Given the description of an element on the screen output the (x, y) to click on. 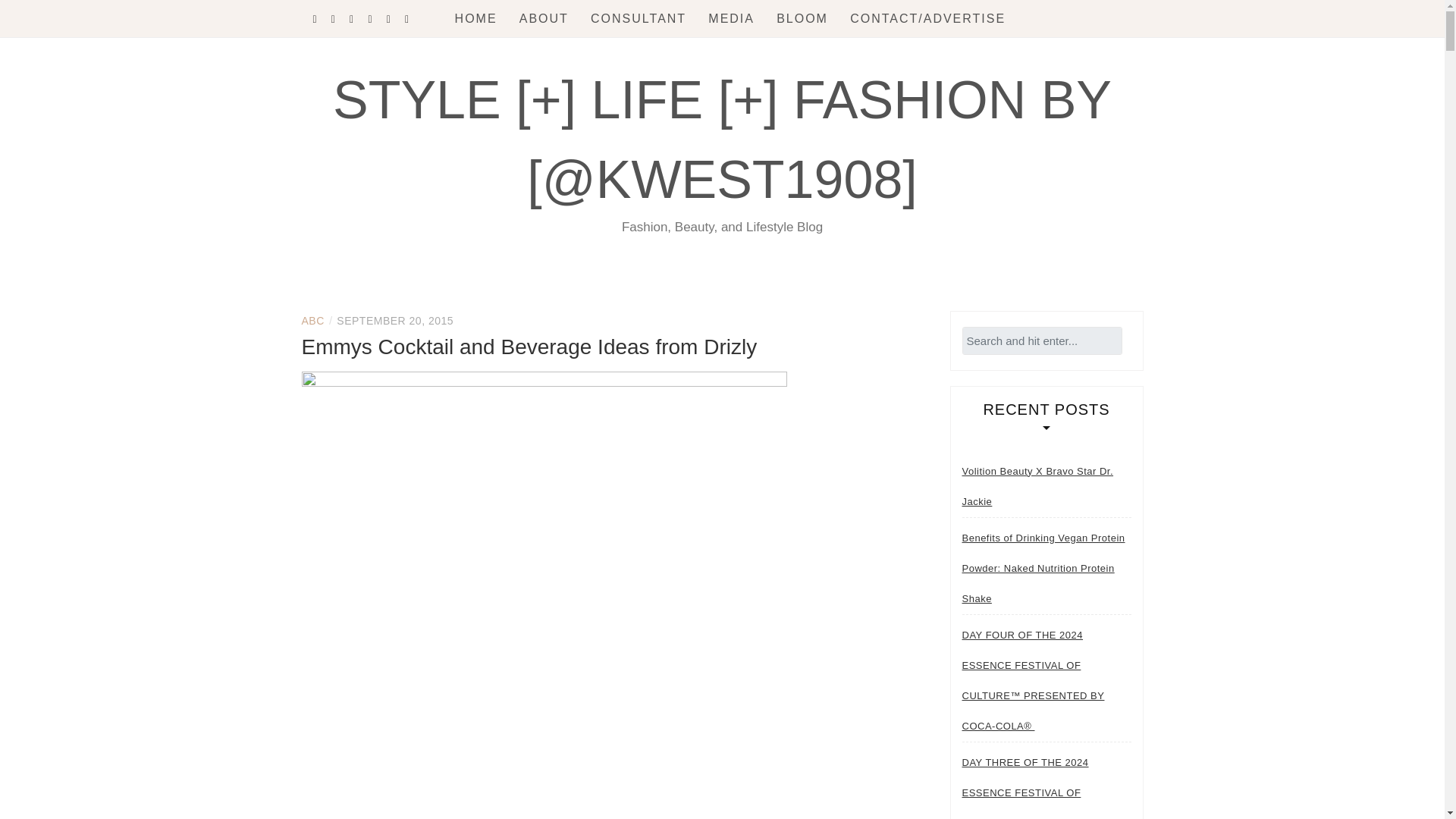
Kimberly-West-Influencer (544, 18)
Volition Beauty X Bravo Star Dr. Jackie (1045, 486)
HOME (475, 18)
Contact (928, 18)
ABC (312, 320)
BLOOM (802, 18)
MEDIA (730, 18)
CONSULTANT (638, 18)
ABOUT (544, 18)
